Given the description of an element on the screen output the (x, y) to click on. 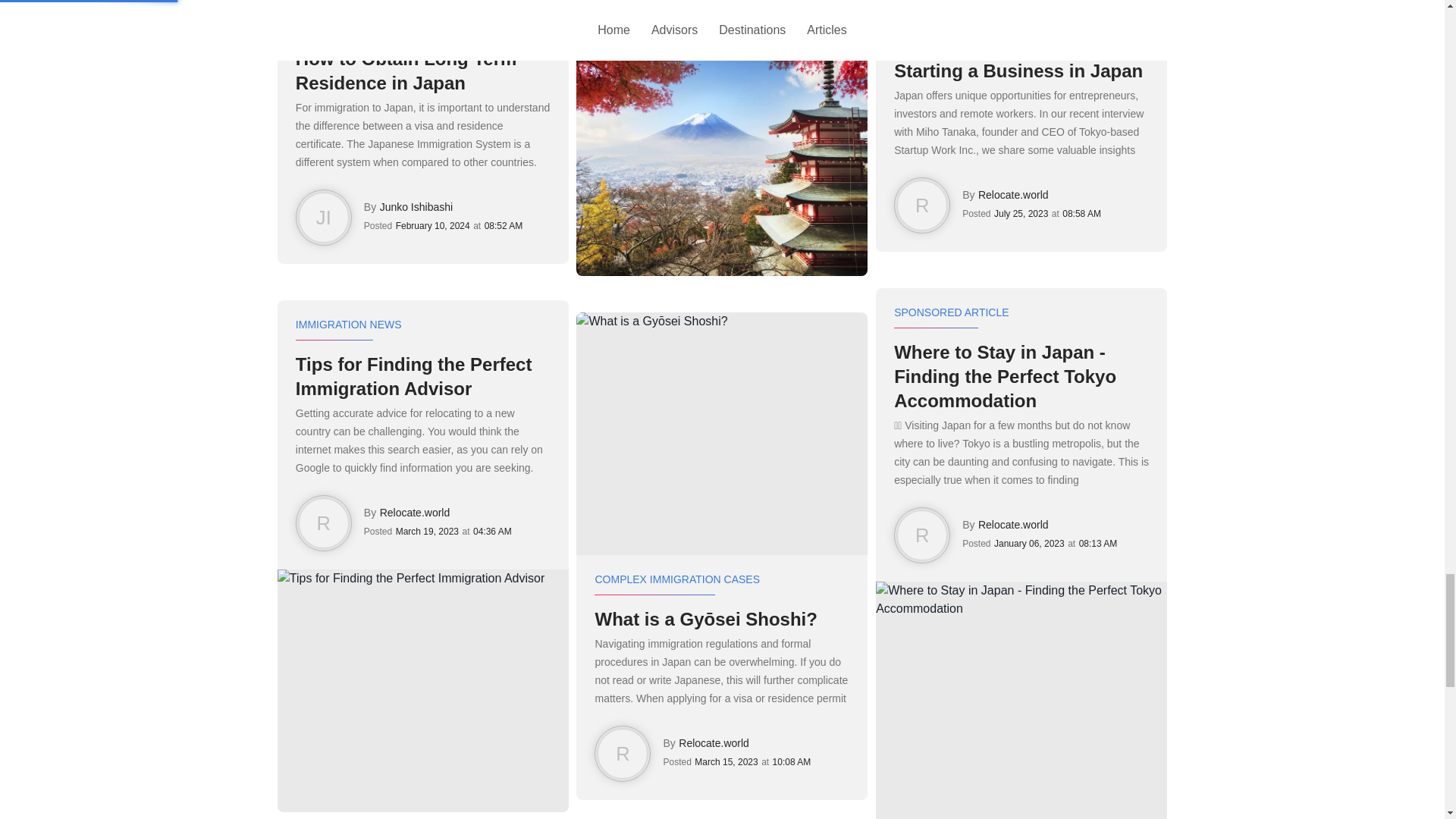
Starting a Business in Japan (1020, 70)
How to Obtain Long Term Residence in Japan (422, 70)
Tips for Finding the Perfect Immigration Advisor (422, 376)
